Given the description of an element on the screen output the (x, y) to click on. 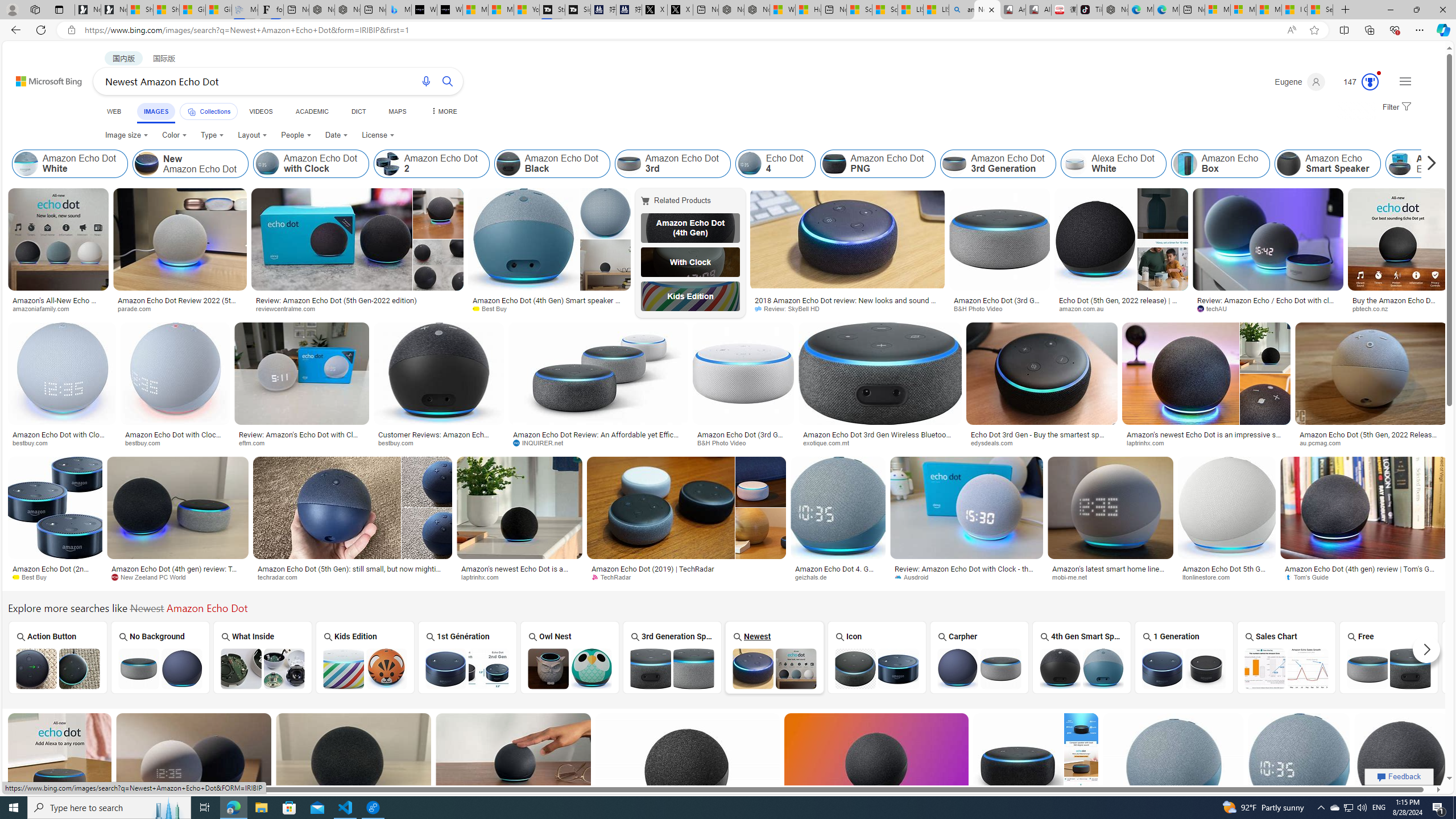
pbtech.co.nz (1397, 308)
Amazon Echo Dot (4th gen) review | Tom's Guide (1363, 572)
Back to Bing search (41, 78)
Amazon Echo Dot Action Button Action Button (57, 656)
eftm.com (301, 442)
Review: Amazon Echo Dot (5th Gen-2022 edition) (357, 299)
Icon (877, 656)
Amazon Echo Dot Icon Icon (877, 656)
